Given the description of an element on the screen output the (x, y) to click on. 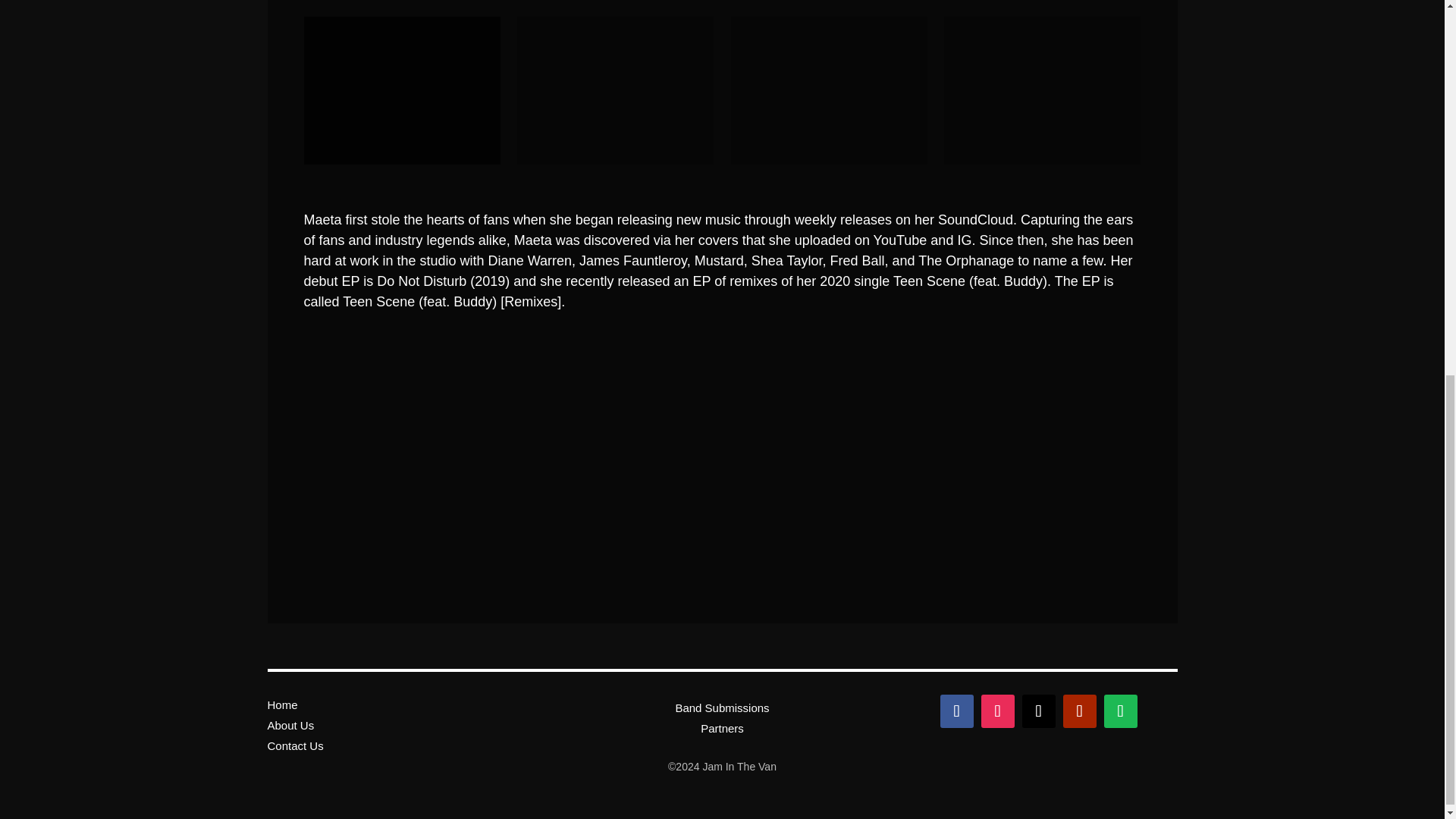
Follow on Spotify (1120, 711)
Follow on Facebook (957, 711)
Follow on Instagram (997, 711)
Follow on X (1038, 711)
Follow on Youtube (1079, 711)
